Given the description of an element on the screen output the (x, y) to click on. 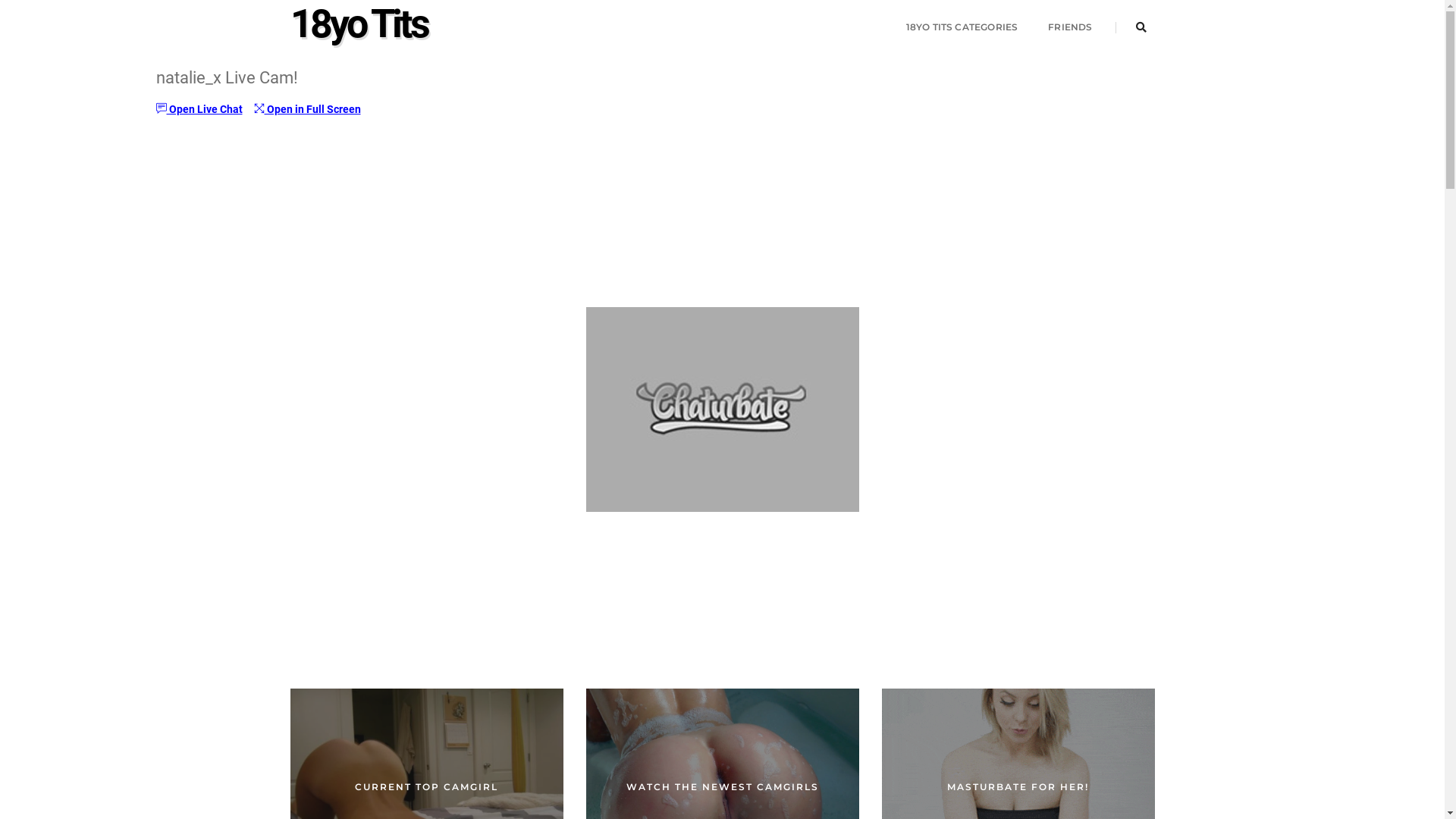
18yo Tits Element type: text (357, 27)
Open in Full Screen Element type: text (306, 109)
FRIENDS Element type: text (1070, 27)
Open Live Chat Element type: text (199, 109)
18YO TITS CATEGORIES Element type: text (962, 27)
